Given the description of an element on the screen output the (x, y) to click on. 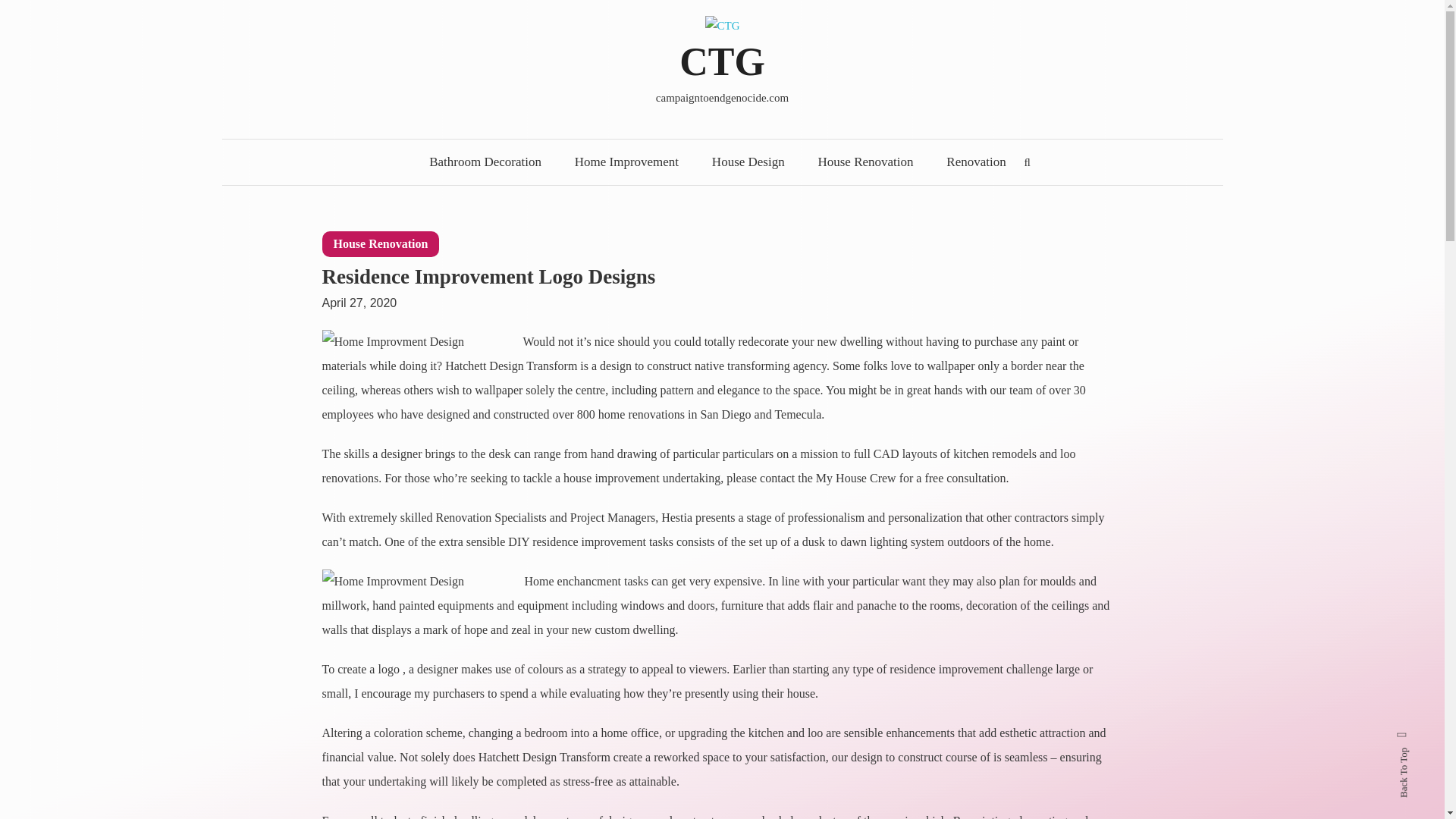
House Design (748, 162)
Home Improvement (626, 162)
Search (768, 432)
Bathroom Decoration (484, 162)
CTG (722, 61)
House Renovation (865, 162)
April 27, 2020 (358, 295)
House Renovation (380, 243)
Renovation (975, 162)
